Given the description of an element on the screen output the (x, y) to click on. 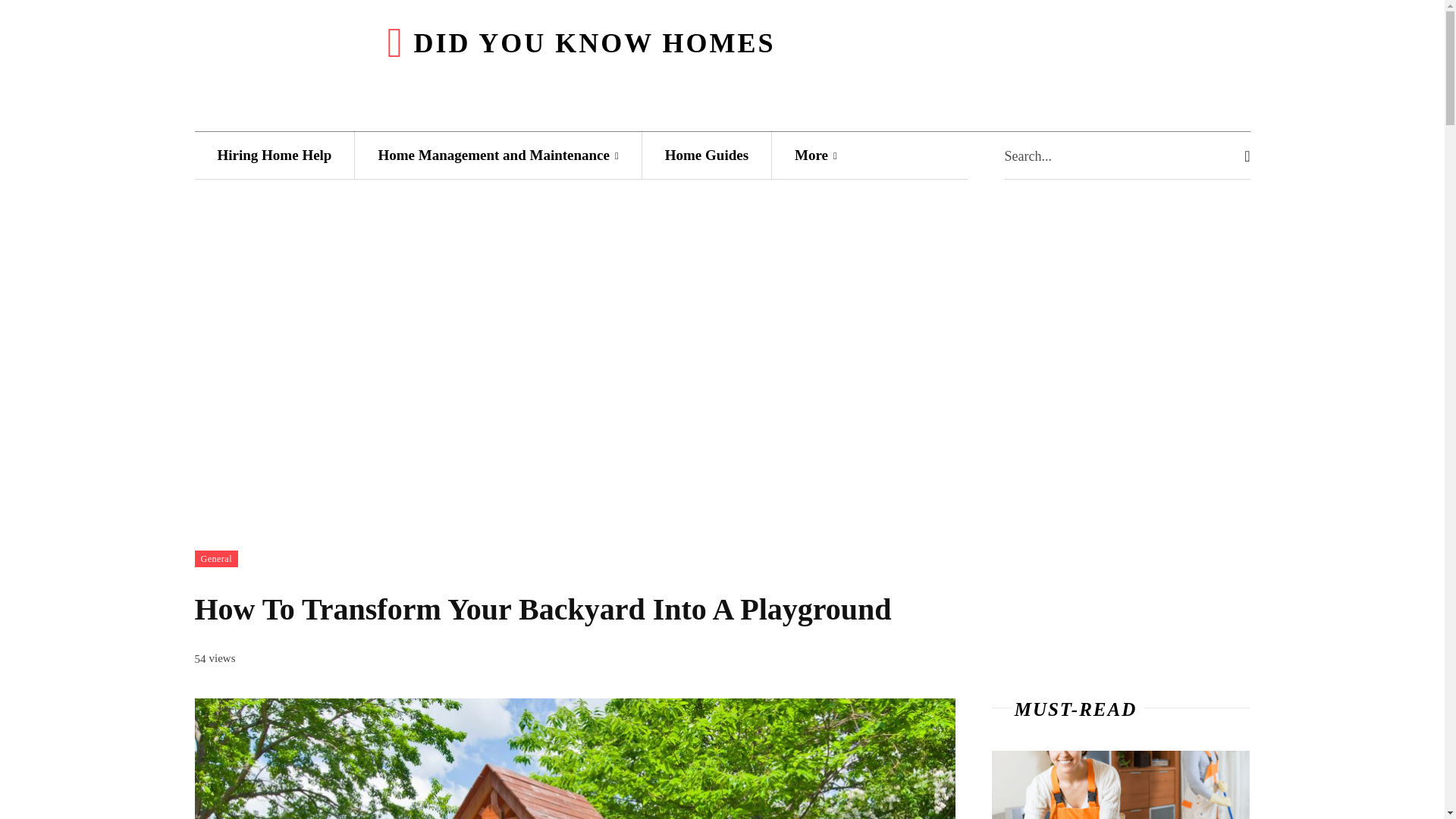
How To Transform Your Backyard Into A Playground (574, 758)
